Given the description of an element on the screen output the (x, y) to click on. 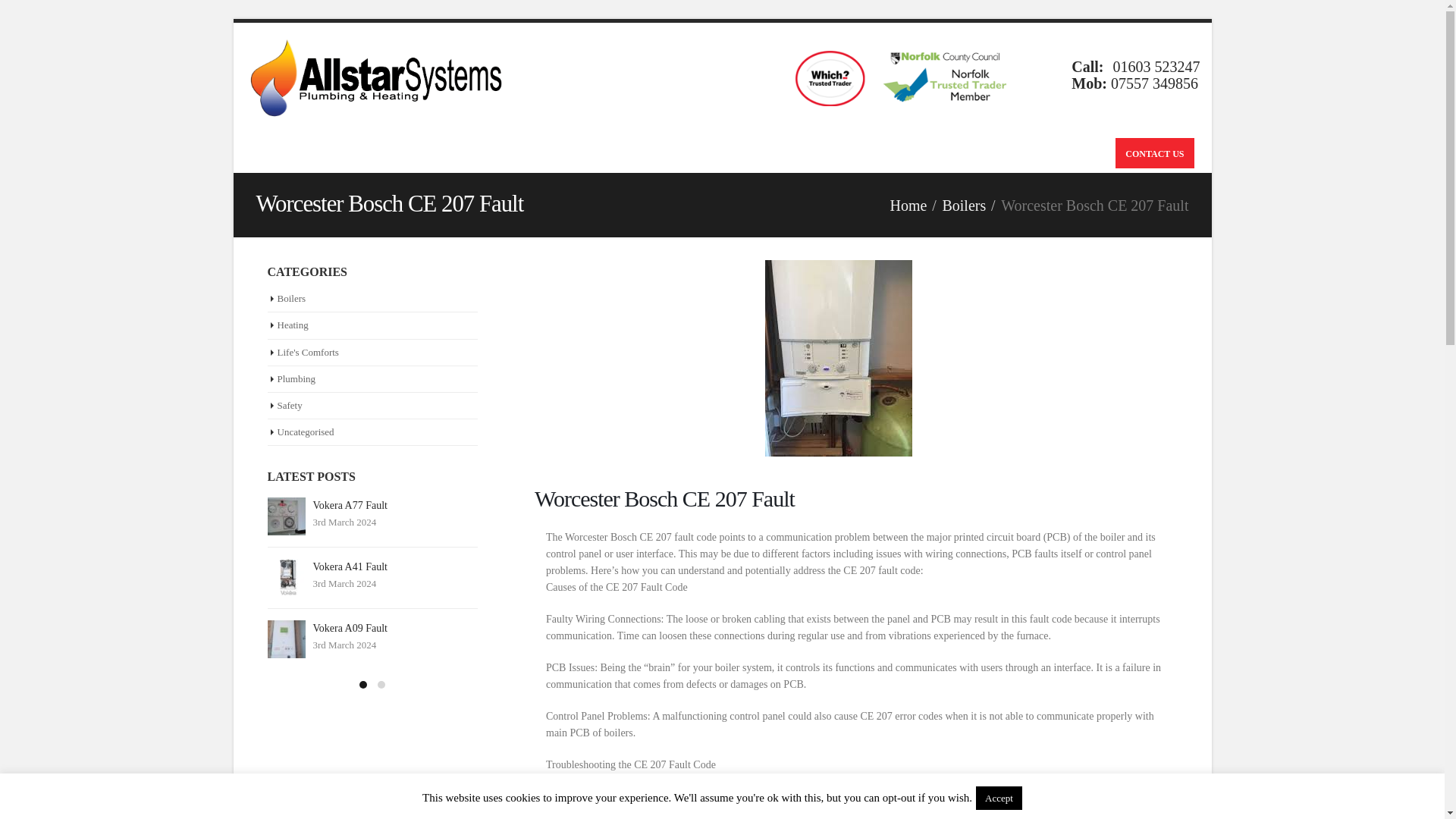
HEATING (572, 153)
FINANCE (640, 153)
PLUMBING (499, 153)
BLOG (745, 153)
RATES (695, 153)
CONTACT US (1154, 153)
ABOUT US (802, 153)
All Star Systems - Plumbing and Heating in Norwich, Norfolk (380, 77)
HOME (272, 153)
BOILERS (426, 153)
COMMERCIAL (344, 153)
